Given the description of an element on the screen output the (x, y) to click on. 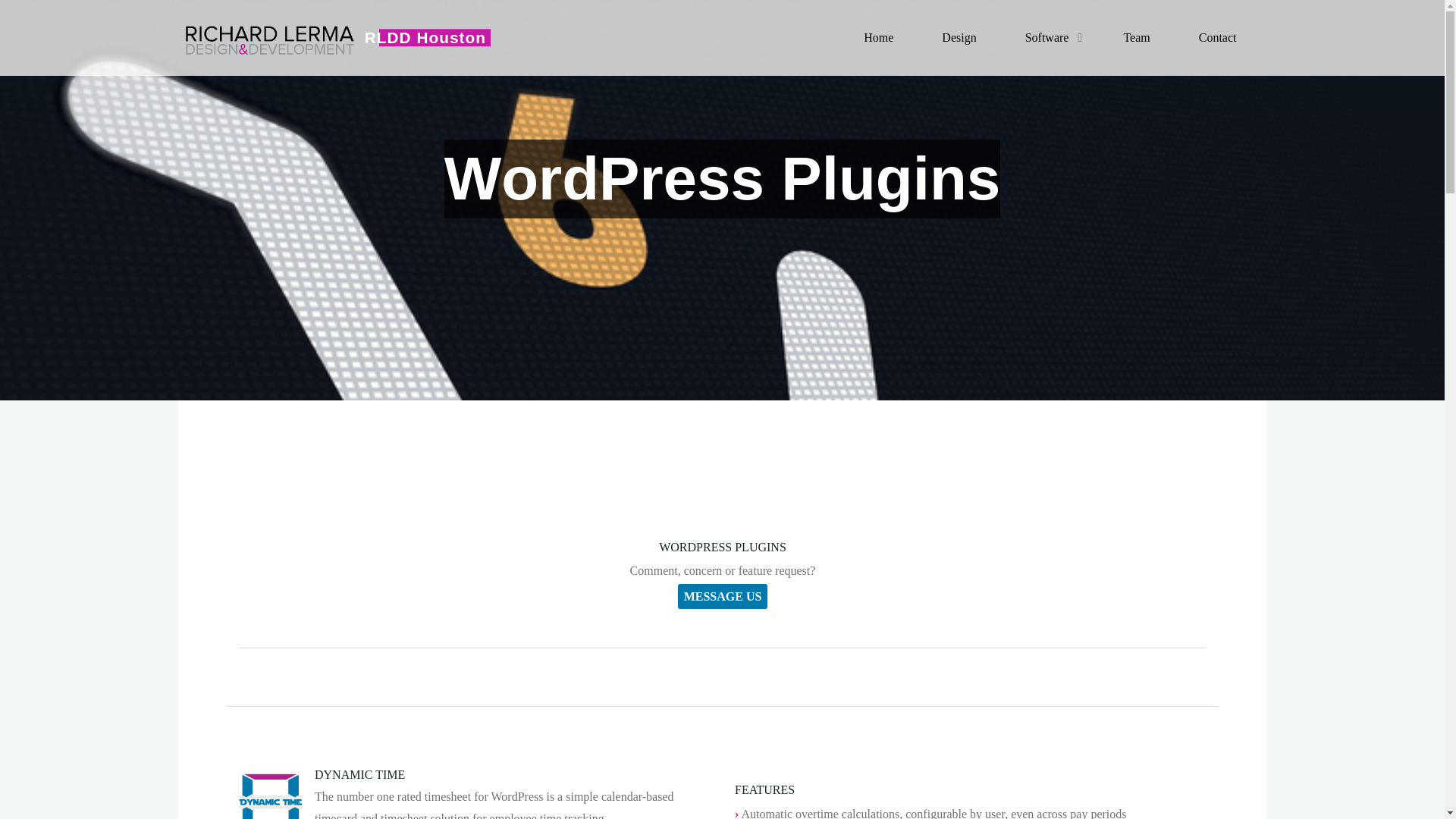
Home (878, 38)
Design (958, 38)
Read more (721, 306)
Team (1136, 38)
RLDD Houston (424, 36)
Contact (1217, 38)
MESSAGE US (722, 596)
RLDD Houston (268, 37)
Software (1050, 38)
